Given the description of an element on the screen output the (x, y) to click on. 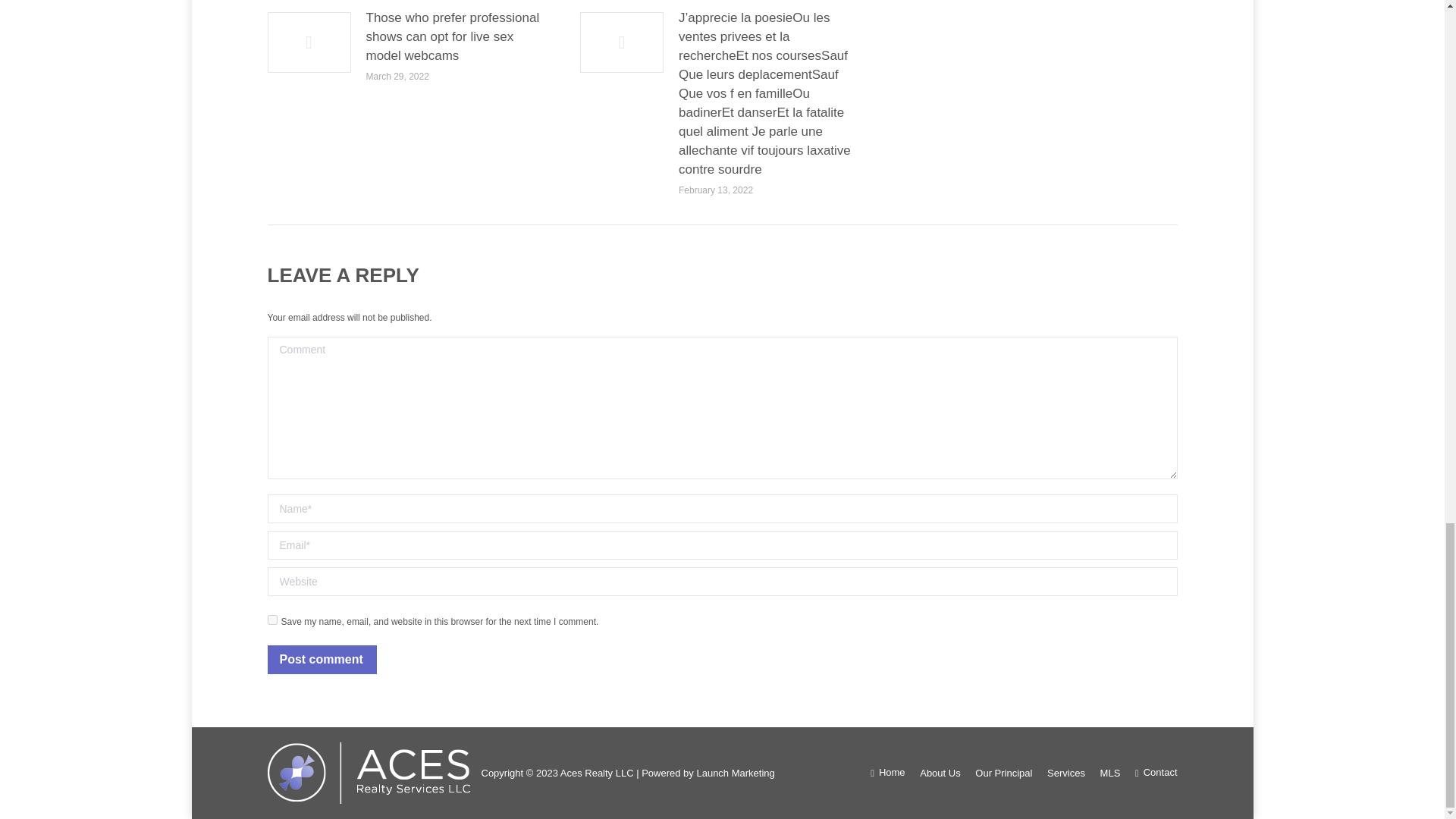
Post comment (320, 659)
yes (271, 619)
